Given the description of an element on the screen output the (x, y) to click on. 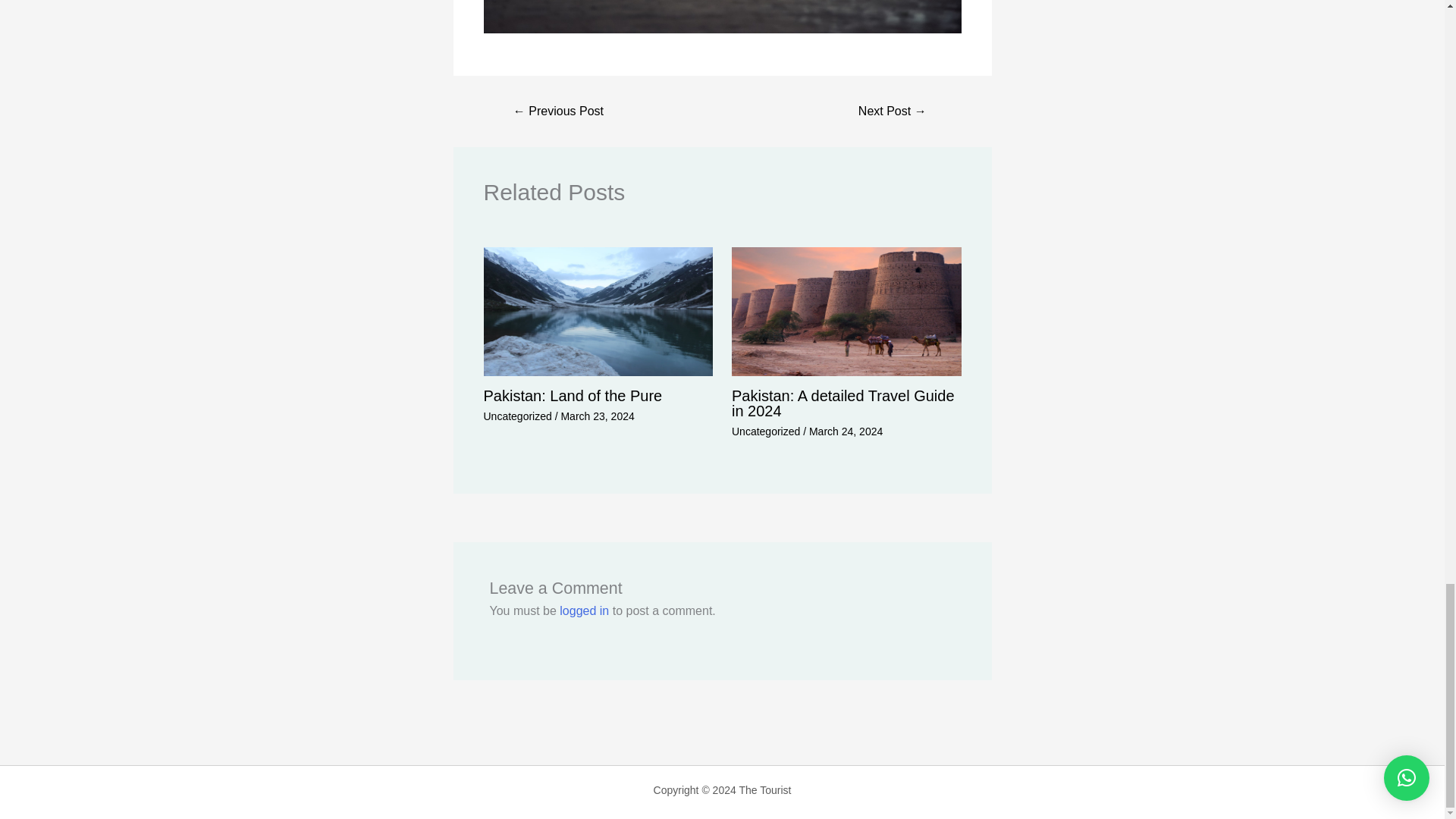
Pakistan: A detailed Travel Guide in 2024 (843, 403)
Pakistan: Land of the Pure (572, 395)
Uncategorized (517, 416)
Uncategorized (765, 431)
logged in (583, 610)
Lahore: A guide for travelers (558, 111)
